Given the description of an element on the screen output the (x, y) to click on. 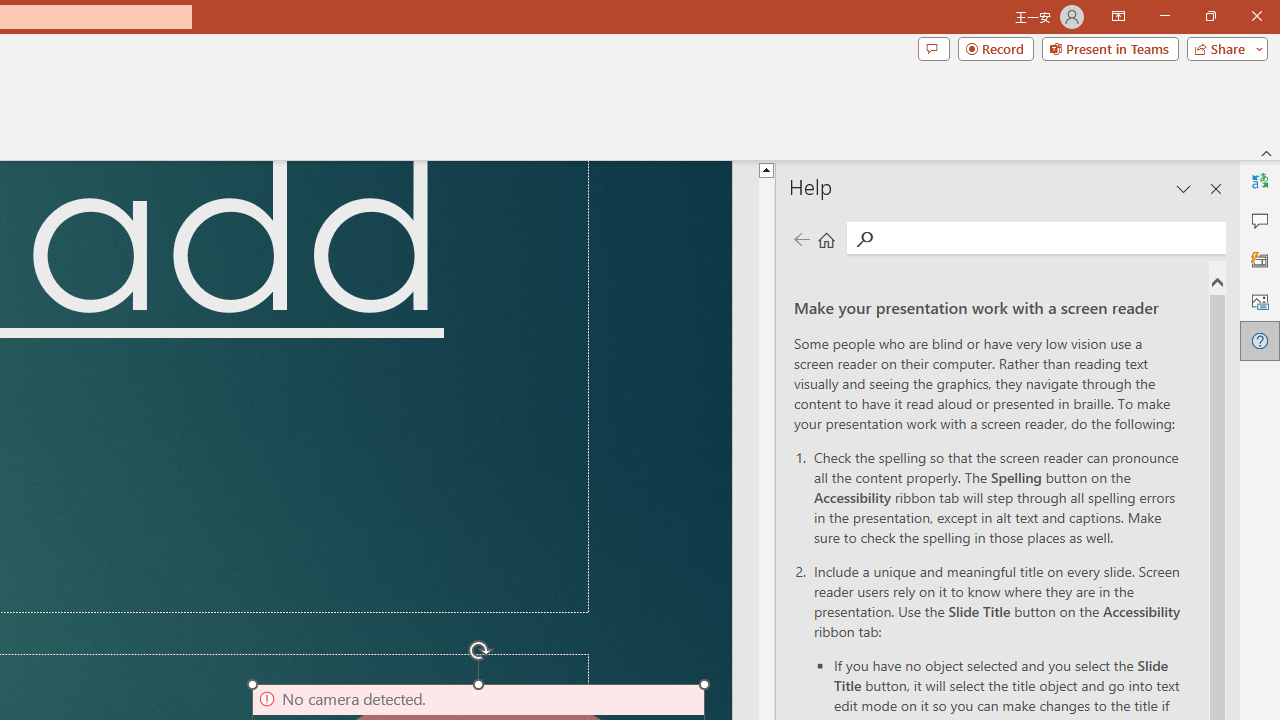
Alt Text (1260, 300)
